Given the description of an element on the screen output the (x, y) to click on. 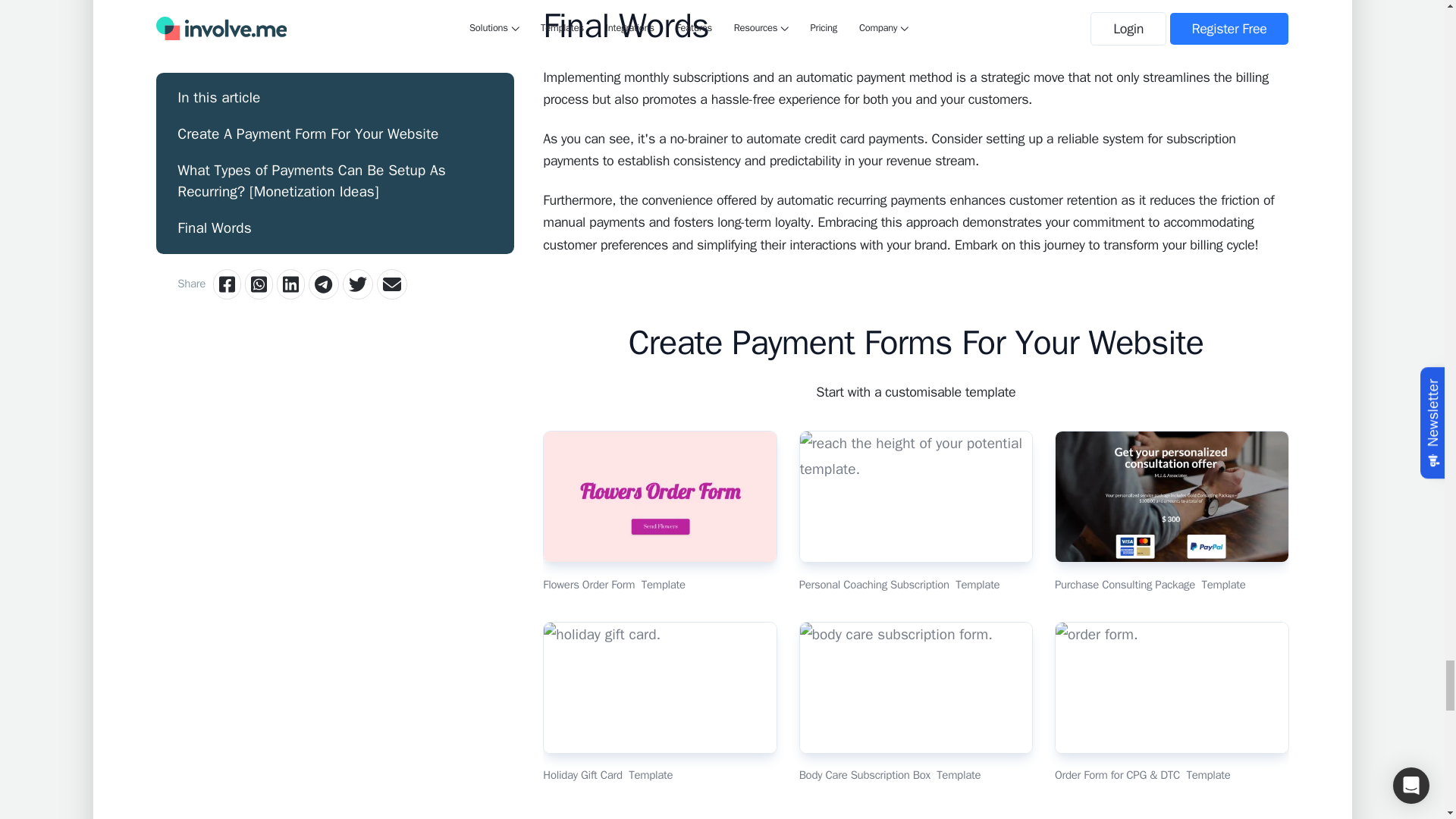
Body Care Subscription Box Template (916, 701)
Holiday Gift Card Template (660, 701)
Purchase Consulting Package Template (1171, 511)
Flowers Order Form Template (660, 511)
Personal Coaching Subscription Template (916, 511)
